Given the description of an element on the screen output the (x, y) to click on. 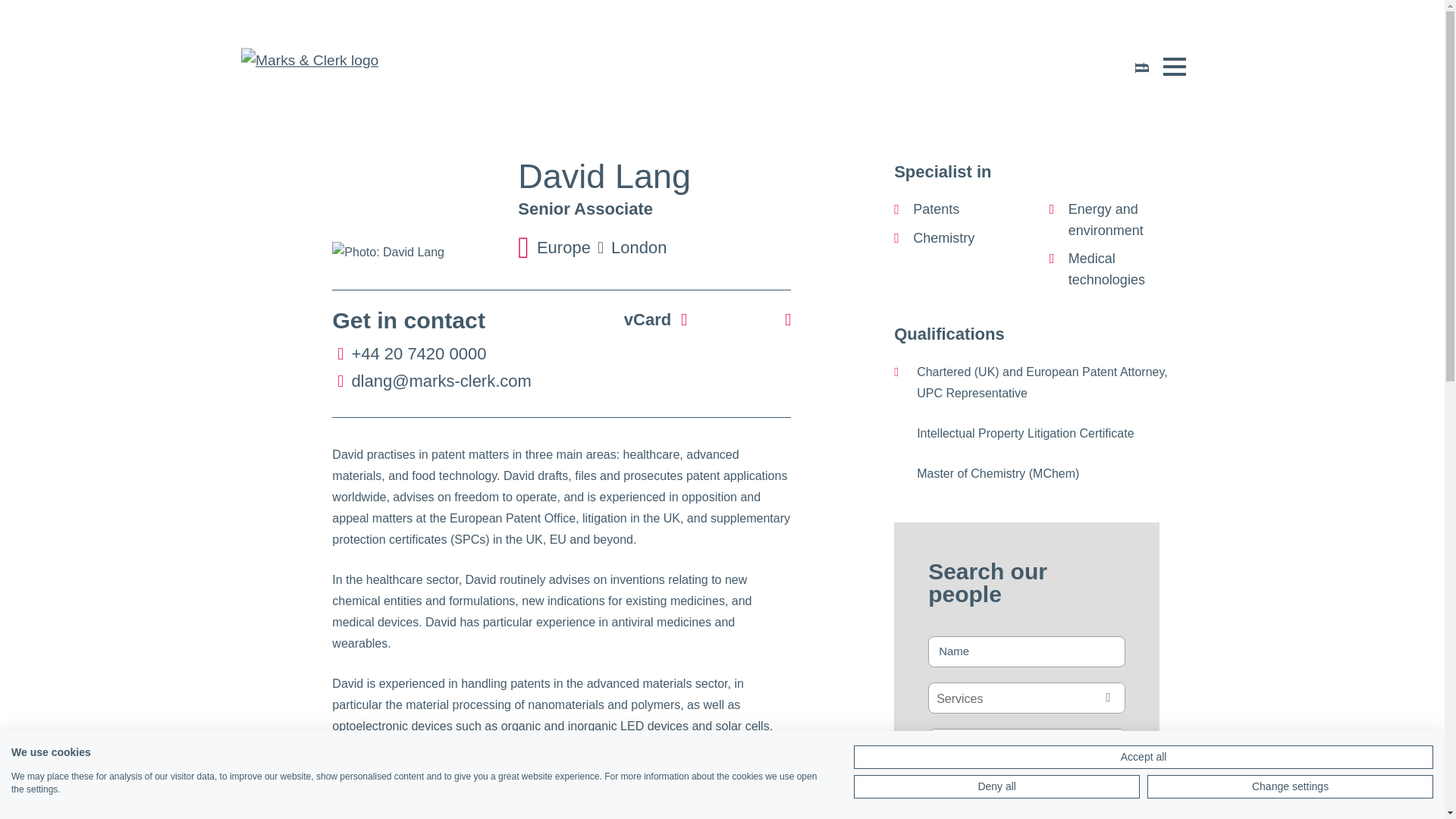
David Lang (411, 251)
undefined (297, 57)
